Given the description of an element on the screen output the (x, y) to click on. 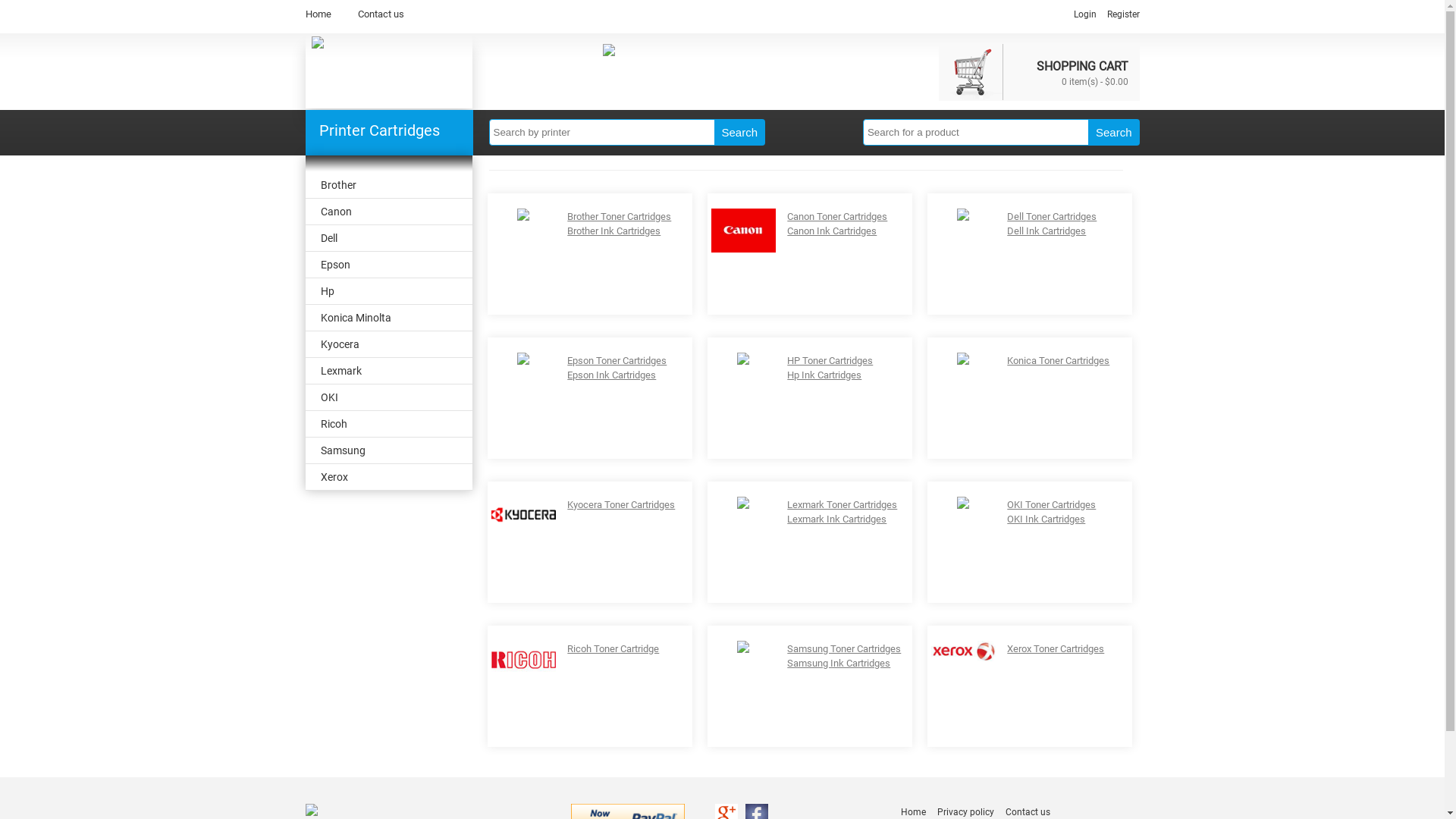
Xerox Element type: text (387, 477)
Dell Toner Cartridges Element type: text (1051, 216)
Register Element type: text (1123, 14)
Contact us Element type: text (380, 13)
Privacy policy Element type: text (965, 811)
Canon Ink Cartridges Element type: text (831, 230)
Ricoh Element type: text (387, 424)
Samsung Element type: text (387, 450)
HP Toner Cartridges Element type: text (829, 360)
Konica Toner Cartridges Element type: text (1058, 360)
Samsung Ink Cartridges Element type: text (838, 662)
Samsung Toner Cartridges Element type: text (843, 648)
Contact us Element type: text (1027, 811)
Epson Element type: text (387, 264)
OKI Ink Cartridges Element type: text (1046, 518)
Home Element type: text (912, 811)
Brother Toner Cartridges Element type: text (619, 216)
Ricoh Toner Cartridge Element type: text (612, 648)
Dell Element type: text (387, 238)
Hp Element type: text (387, 291)
OKI Element type: text (387, 397)
Search Element type: text (1113, 132)
Brother Element type: text (387, 185)
Home Element type: text (317, 13)
Dell Ink Cartridges Element type: text (1046, 230)
Konica Minolta Element type: text (387, 317)
Search Element type: text (739, 132)
Login Element type: text (1084, 14)
Epson Toner Cartridges Element type: text (616, 360)
Kyocera Element type: text (387, 344)
Xerox Toner Cartridges Element type: text (1055, 648)
Hp Ink Cartridges Element type: text (824, 374)
0 item(s) - $0.00 Element type: text (1094, 80)
Brother Ink Cartridges Element type: text (613, 230)
Canon Toner Cartridges Element type: text (837, 216)
Epson Ink Cartridges Element type: text (611, 374)
Canon Element type: text (387, 211)
Kyocera Toner Cartridges Element type: text (620, 504)
Lexmark Element type: text (387, 370)
OKI Toner Cartridges Element type: text (1051, 504)
Lexmark Ink Cartridges Element type: text (836, 518)
Lexmark Toner Cartridges Element type: text (842, 504)
